Given the description of an element on the screen output the (x, y) to click on. 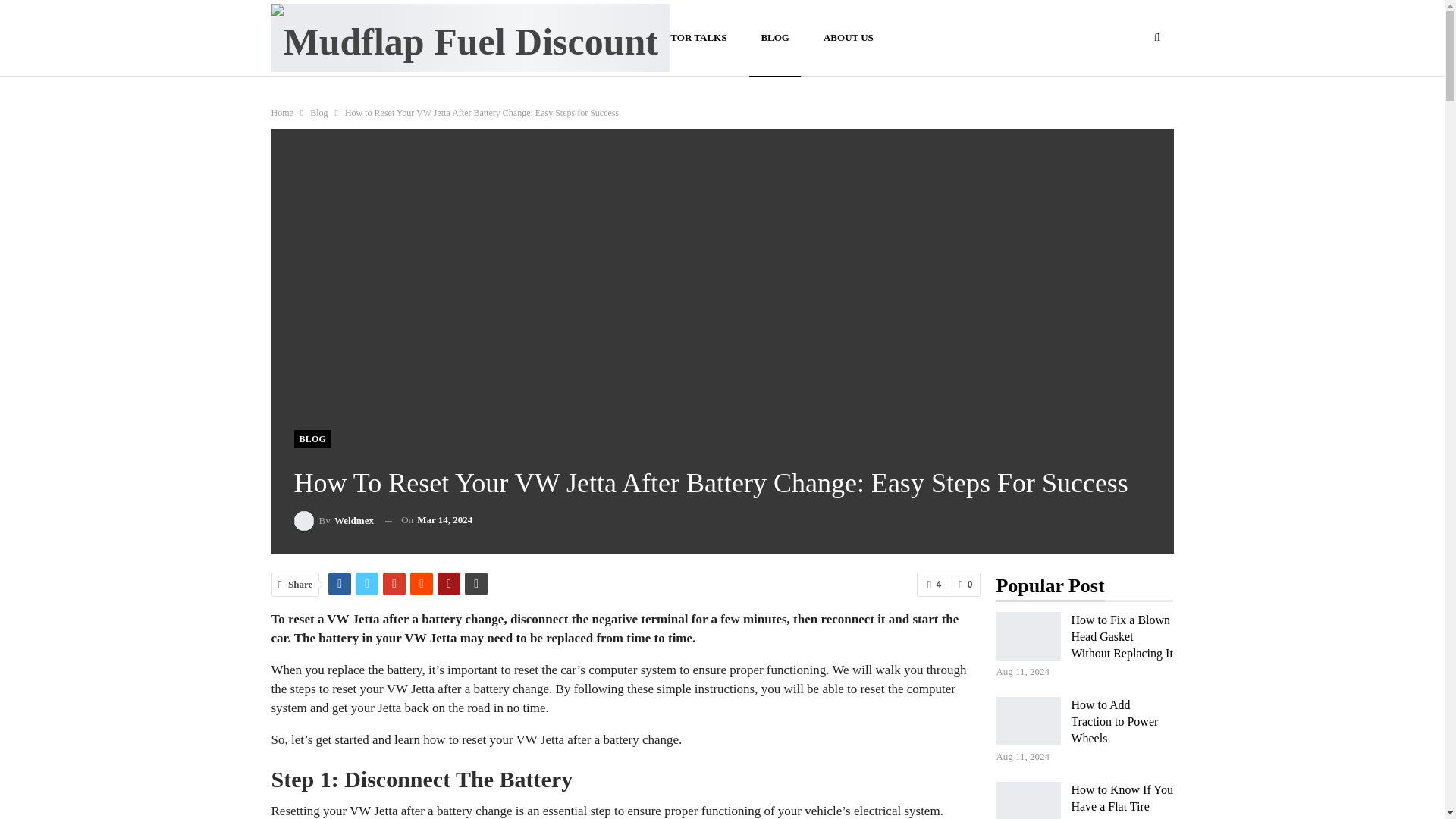
0 (964, 584)
ABOUT US (848, 38)
Home (282, 112)
Blog (318, 112)
FUEL DISCOUNT (568, 38)
BLOG (312, 438)
TRACTOR TALKS (684, 38)
By Weldmex (334, 520)
Browse Author Articles (334, 520)
